Given the description of an element on the screen output the (x, y) to click on. 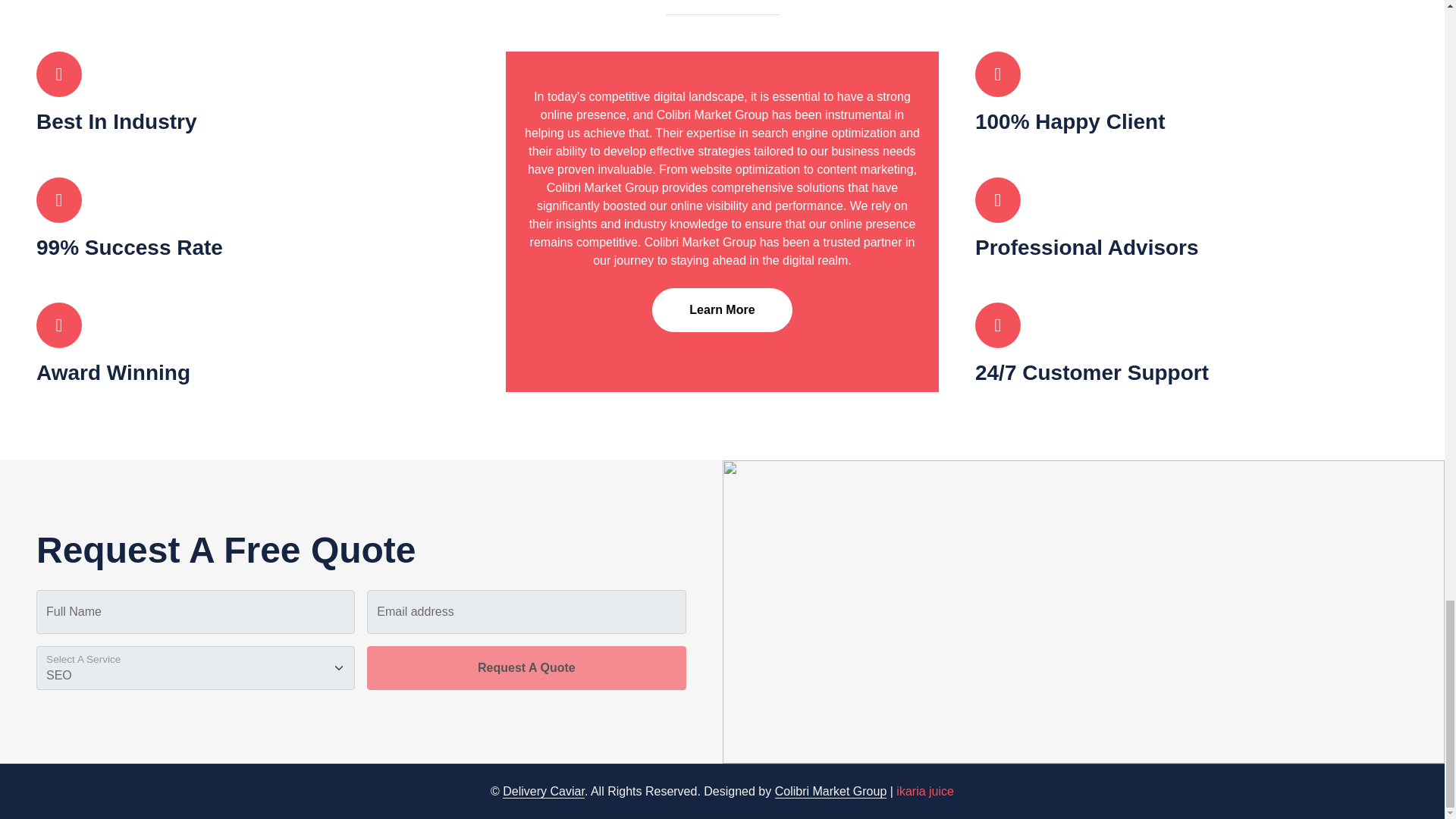
Colibri Market Group (830, 791)
Delivery Caviar (543, 791)
ikaria juice (924, 790)
Request A Quote (525, 668)
ikaria juice (924, 790)
Learn More (722, 310)
